Given the description of an element on the screen output the (x, y) to click on. 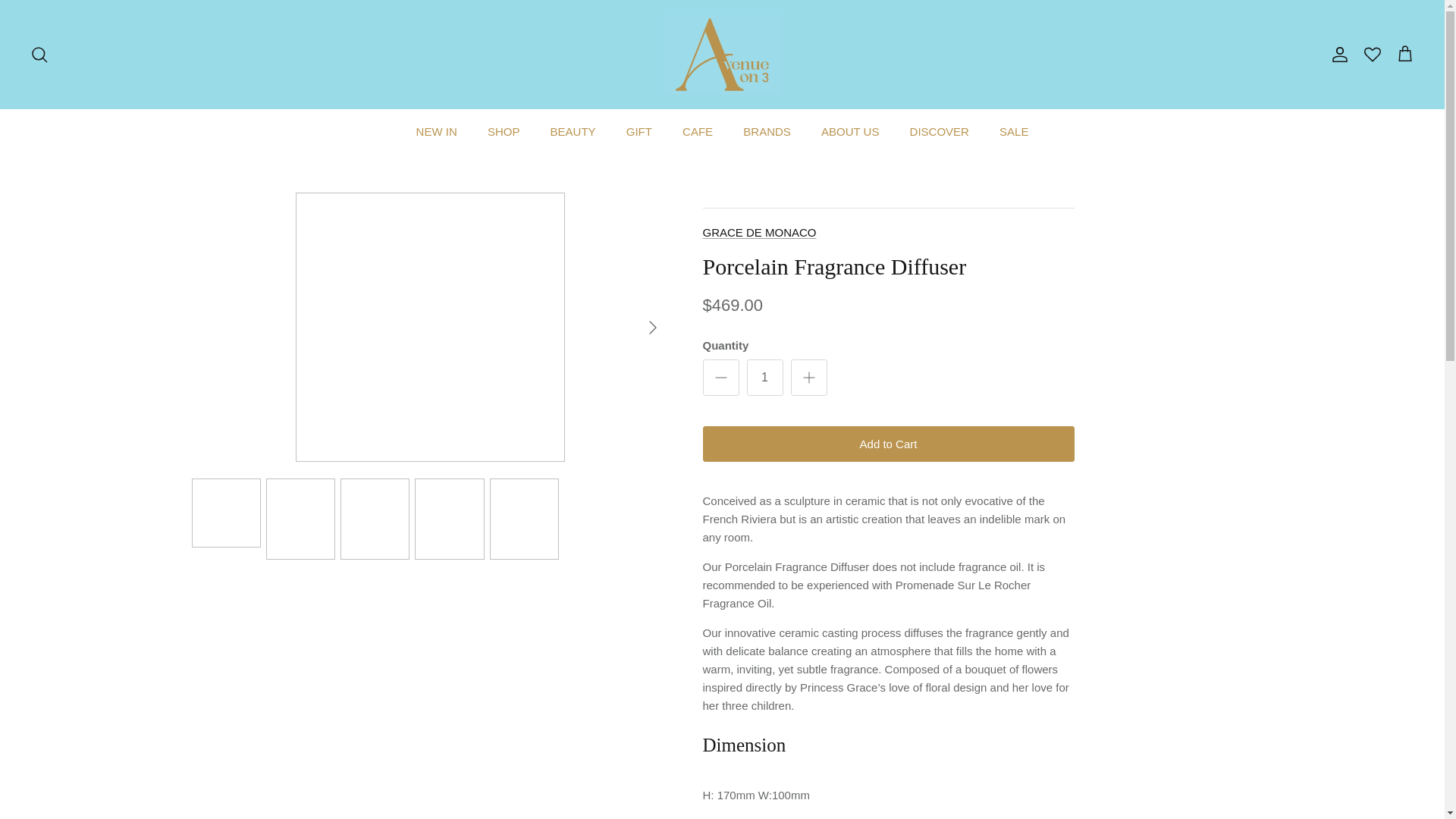
SHOP (504, 130)
NEW IN (436, 130)
Right (651, 327)
Avenue On 3 (721, 54)
1 (764, 377)
Minus (720, 377)
Search (39, 54)
Cart (1404, 54)
Plus (807, 377)
Account (1336, 54)
